Given the description of an element on the screen output the (x, y) to click on. 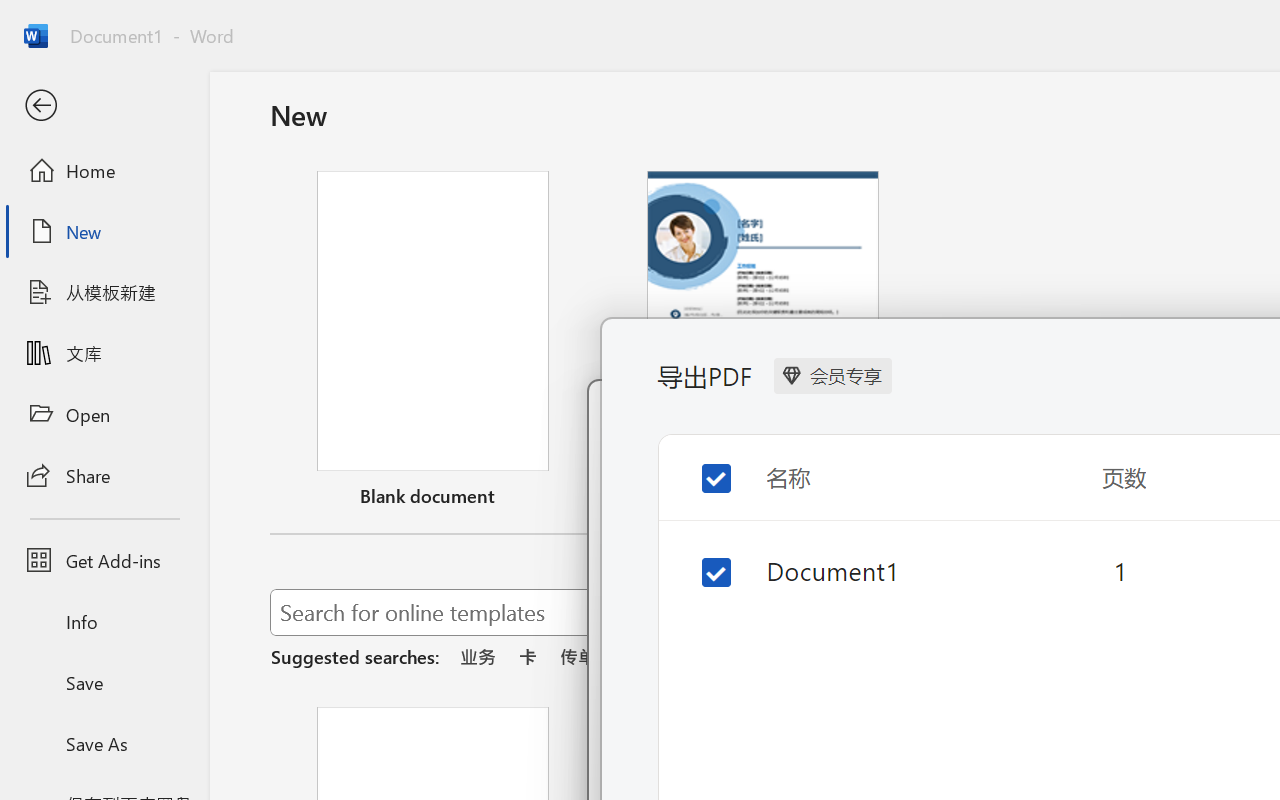
Toggle selection for all items (699, 471)
1 (1118, 569)
Back (104, 106)
Document1 (881, 569)
Info (104, 621)
